Given the description of an element on the screen output the (x, y) to click on. 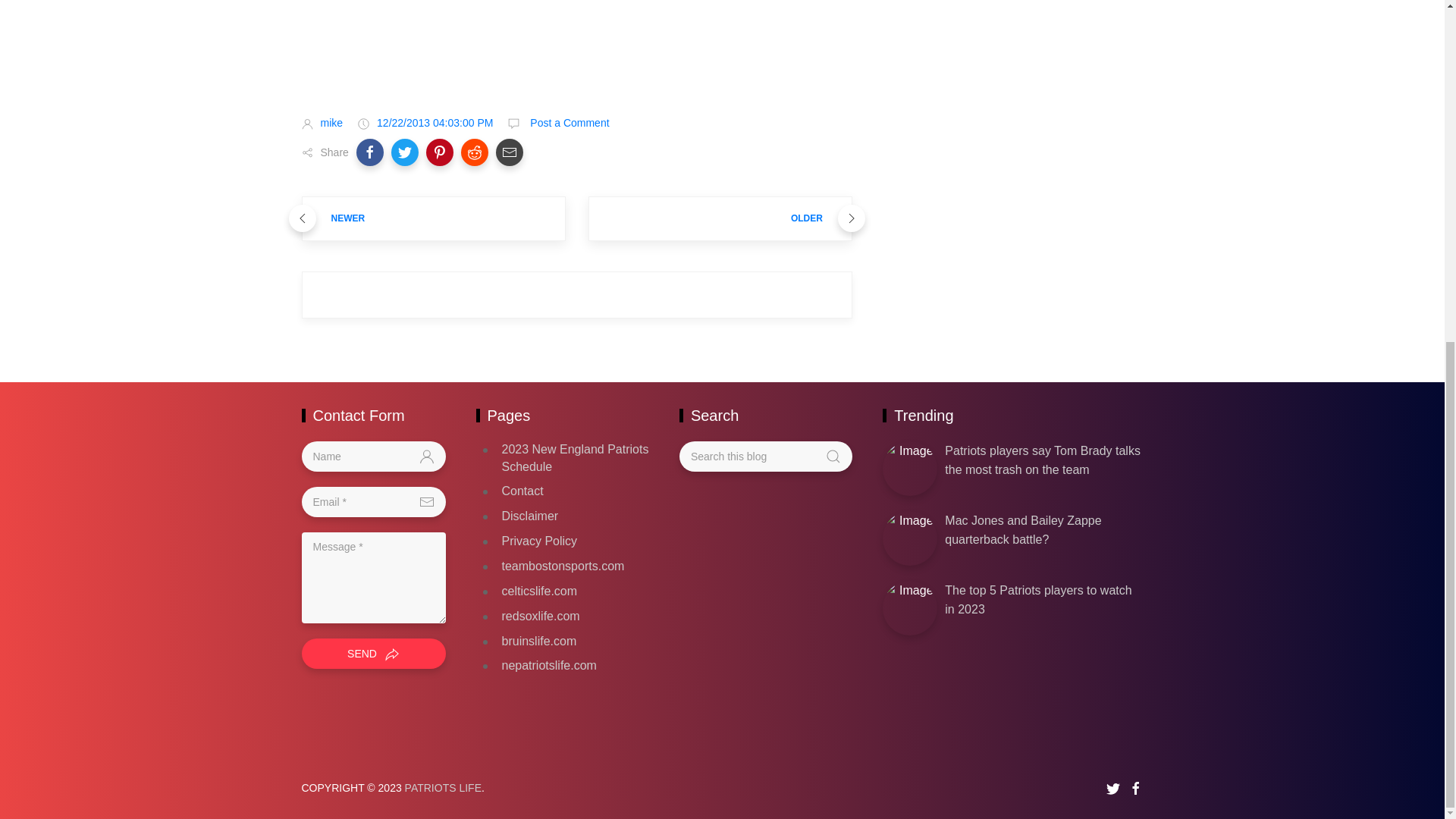
2023 New England Patriots Schedule (575, 458)
permanent link (435, 122)
Advertisement (576, 45)
OLDER (719, 218)
mike (331, 122)
Contact (522, 490)
author profile (331, 122)
NEWER (433, 218)
Post a Comment (567, 122)
